Given the description of an element on the screen output the (x, y) to click on. 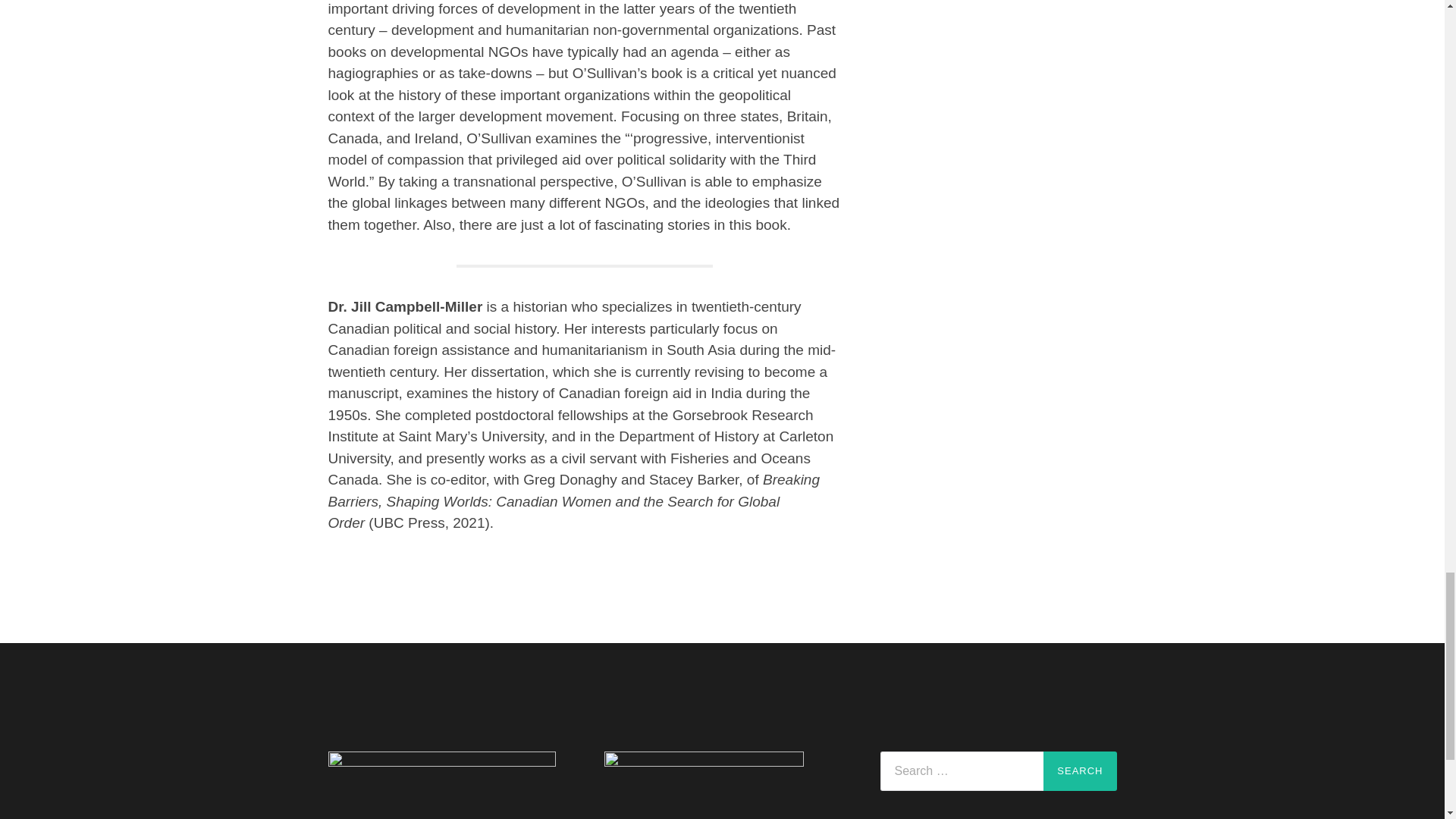
Search (1079, 771)
Search (1079, 771)
Search (1079, 771)
